Given the description of an element on the screen output the (x, y) to click on. 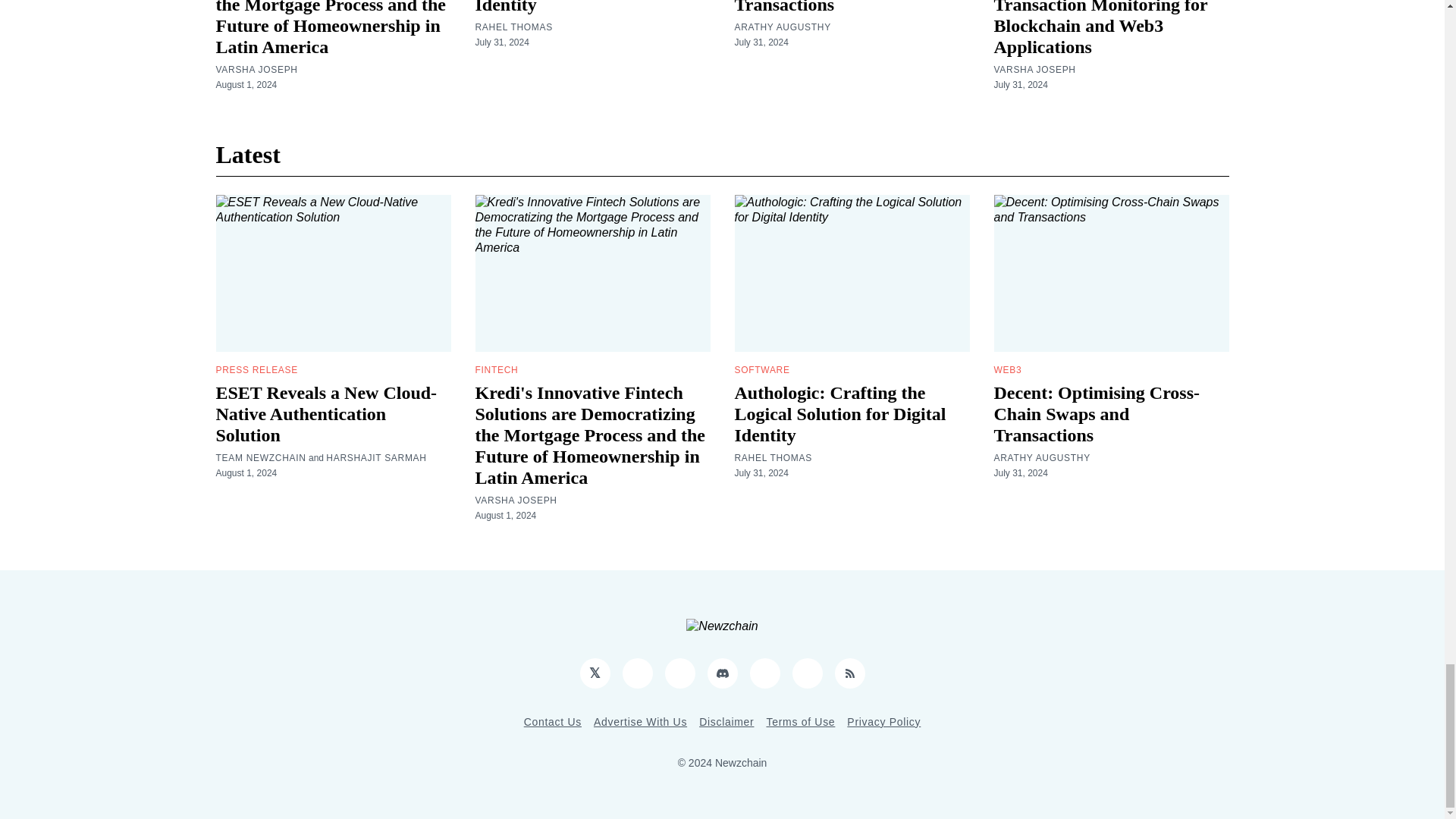
Decent: Optimising Cross-Chain Swaps and Transactions (836, 7)
VARSHA JOSEPH (256, 69)
ARATHY AUGUSTHY (781, 27)
RAHEL THOMAS (512, 27)
